Given the description of an element on the screen output the (x, y) to click on. 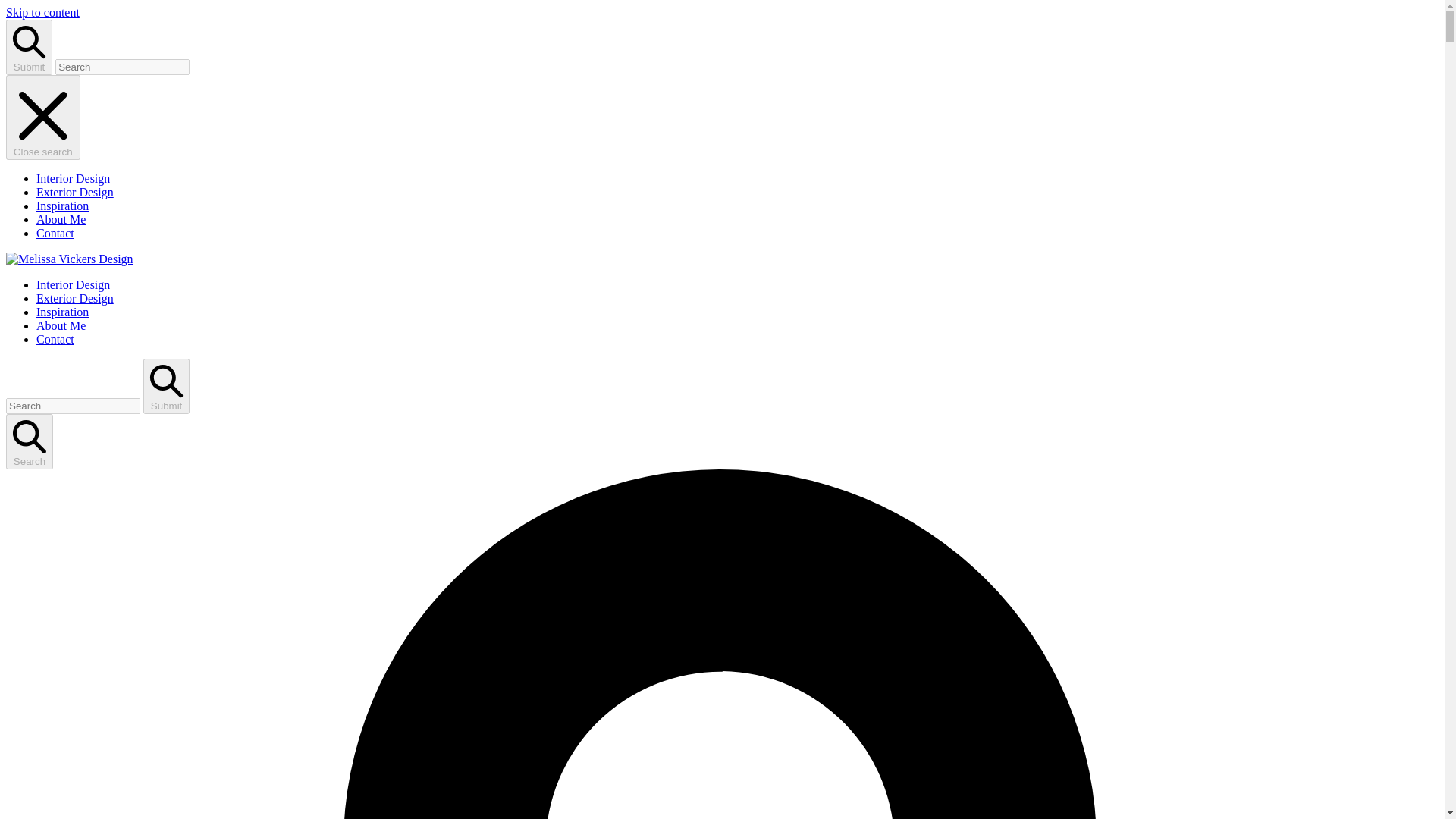
Interior Design (73, 178)
Exterior Design (74, 297)
About Me (60, 325)
Exterior Design (74, 192)
Inspiration (62, 205)
About Me (60, 219)
Contact (55, 232)
Inspiration (62, 311)
Skip to content (42, 11)
Interior Design (73, 284)
